Given the description of an element on the screen output the (x, y) to click on. 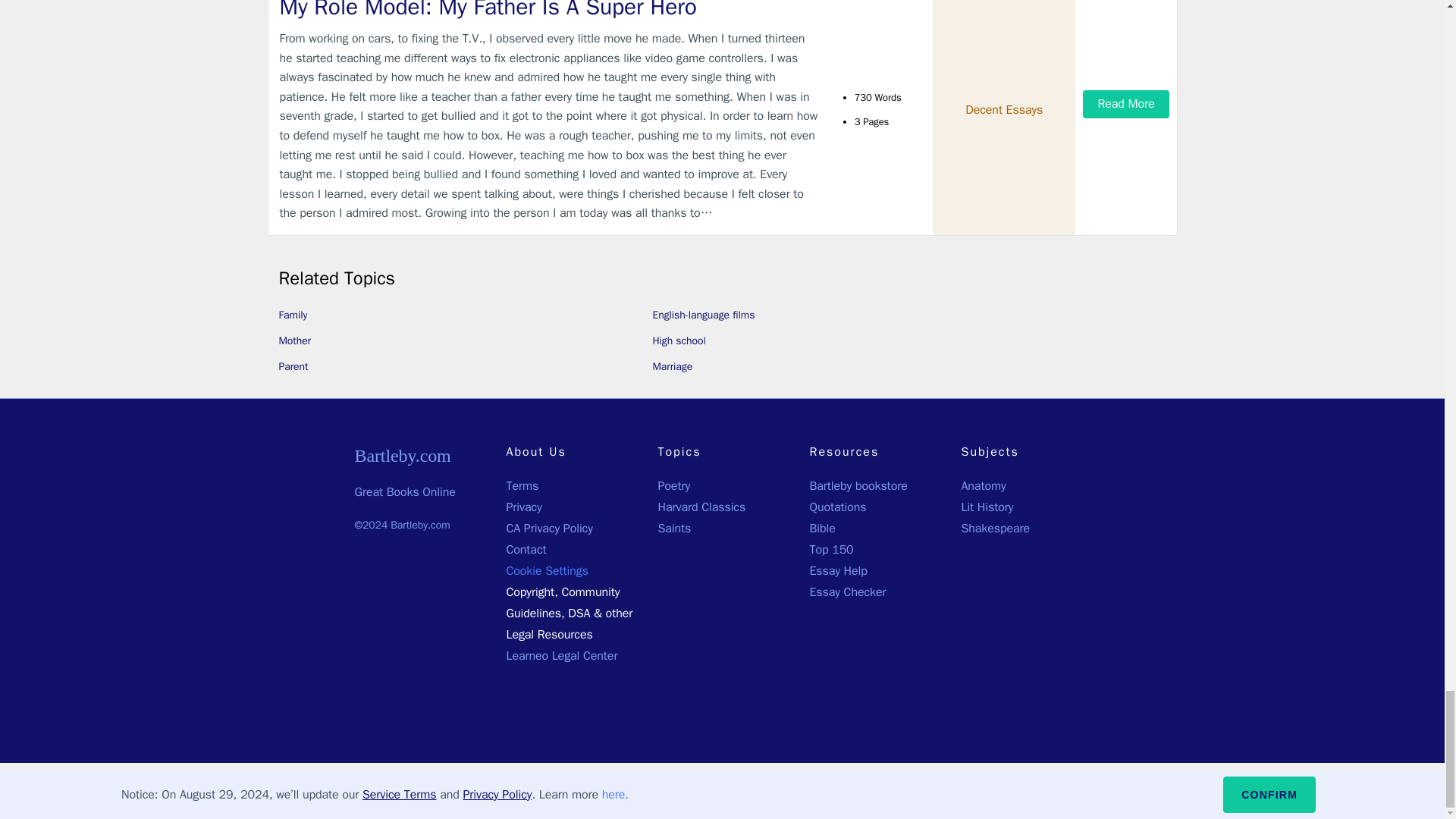
Mother (295, 340)
Marriage (672, 366)
High school (678, 340)
Parent (293, 366)
Family (293, 314)
English-language films (703, 314)
